Given the description of an element on the screen output the (x, y) to click on. 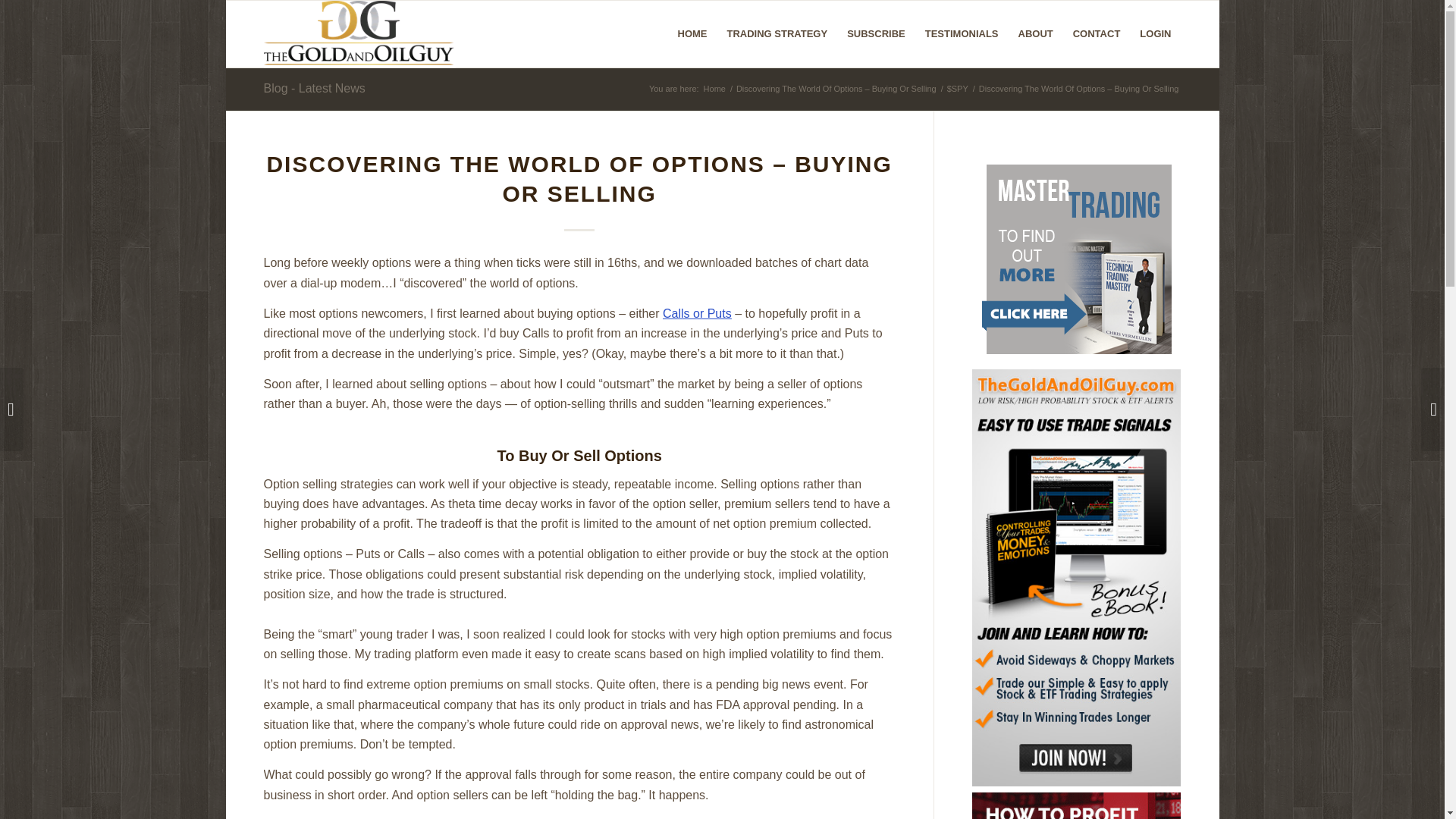
TRADING STRATEGY (777, 33)
Blog - Latest News (314, 88)
tgaoglogo (360, 33)
Home (714, 89)
Permanent Link: Blog - Latest News (314, 88)
Calls or Puts (697, 313)
SUBSCRIBE (876, 33)
